Given the description of an element on the screen output the (x, y) to click on. 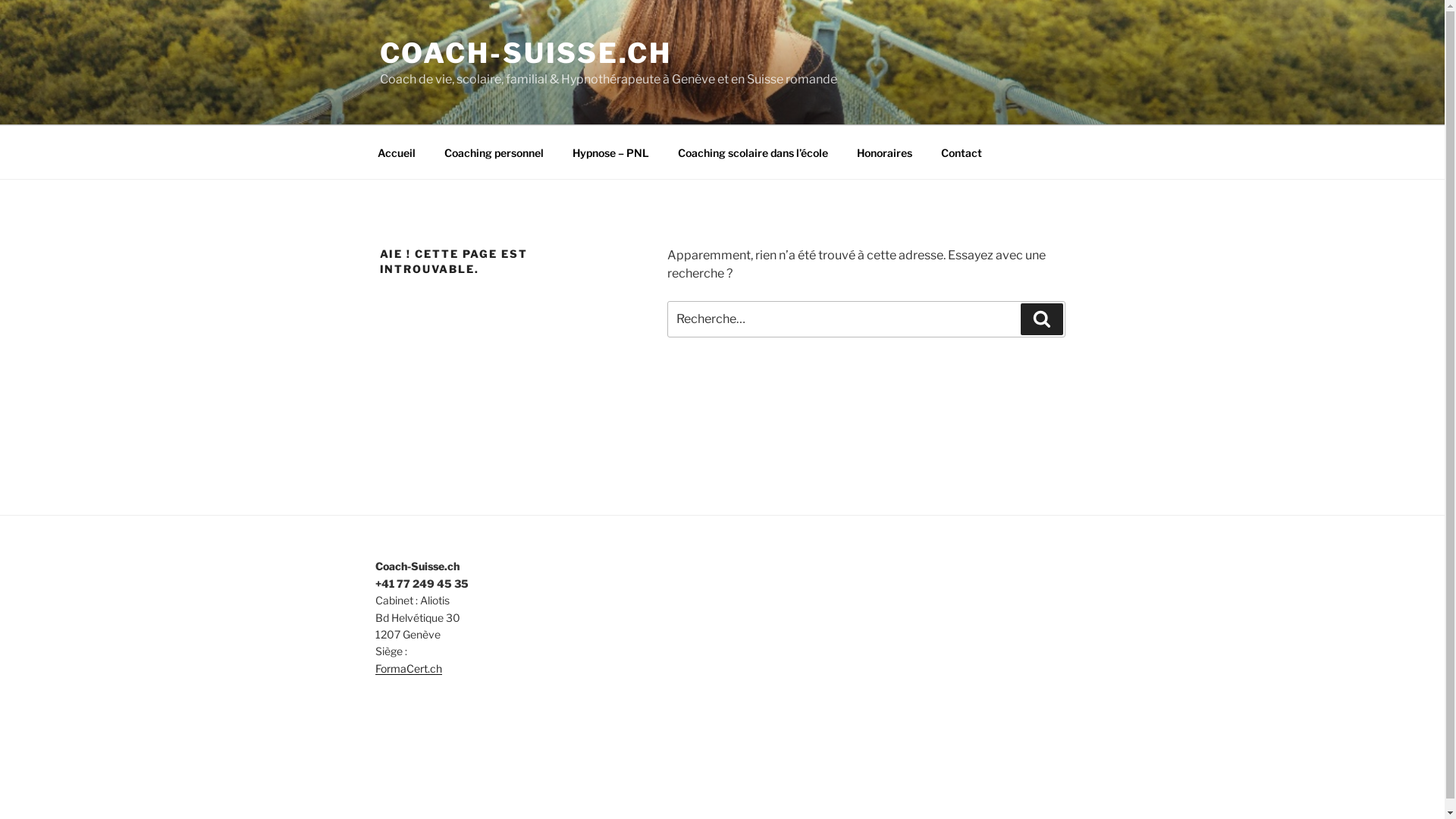
Coaching personnel Element type: text (493, 151)
Accueil Element type: text (396, 151)
COACH-SUISSE.CH Element type: text (525, 52)
FormaCert.ch Element type: text (407, 668)
Contact Element type: text (961, 151)
Recherche Element type: text (1041, 319)
Honoraires Element type: text (884, 151)
